Given the description of an element on the screen output the (x, y) to click on. 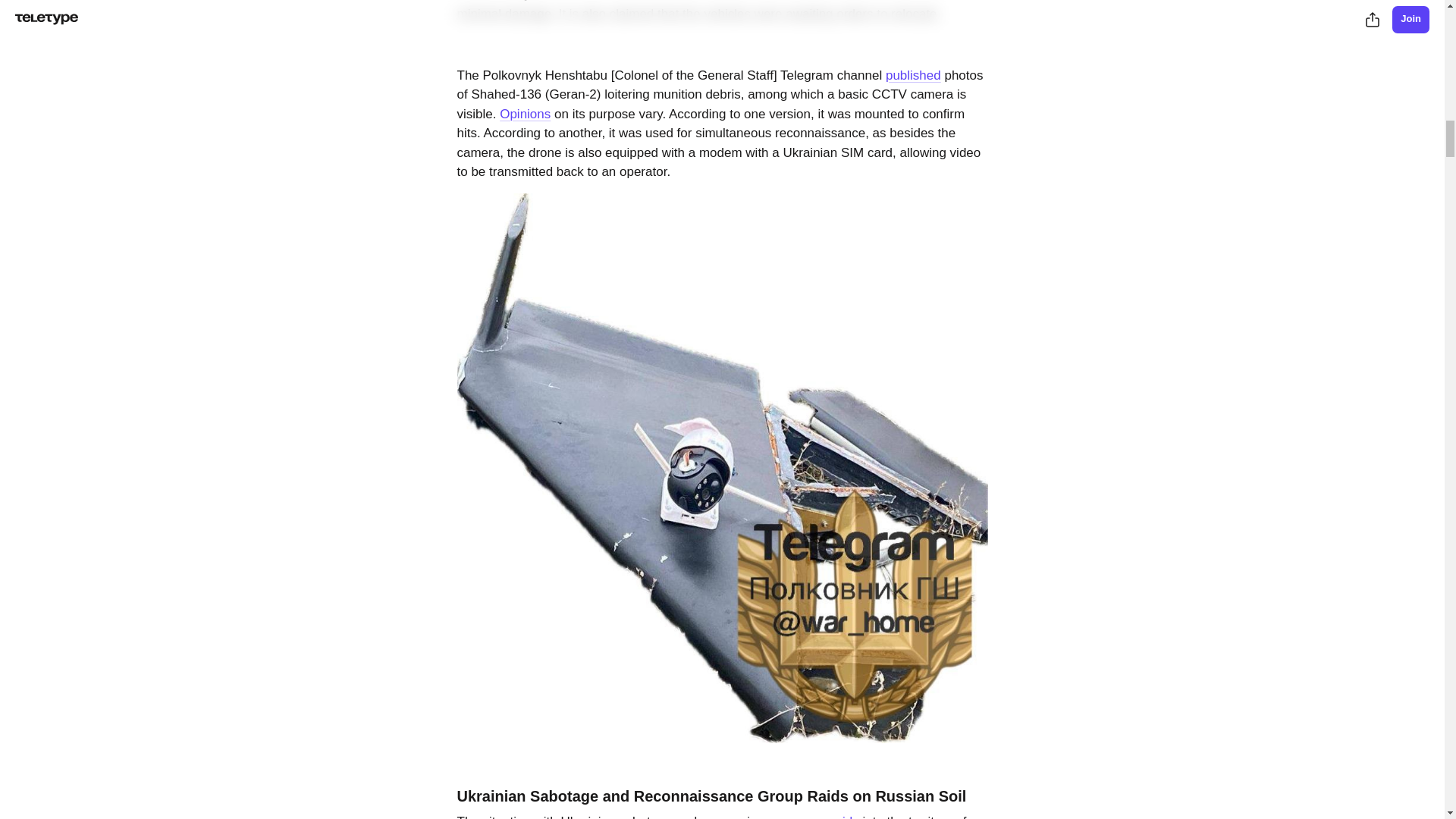
raids (845, 816)
Opinions (524, 114)
published (912, 74)
